Given the description of an element on the screen output the (x, y) to click on. 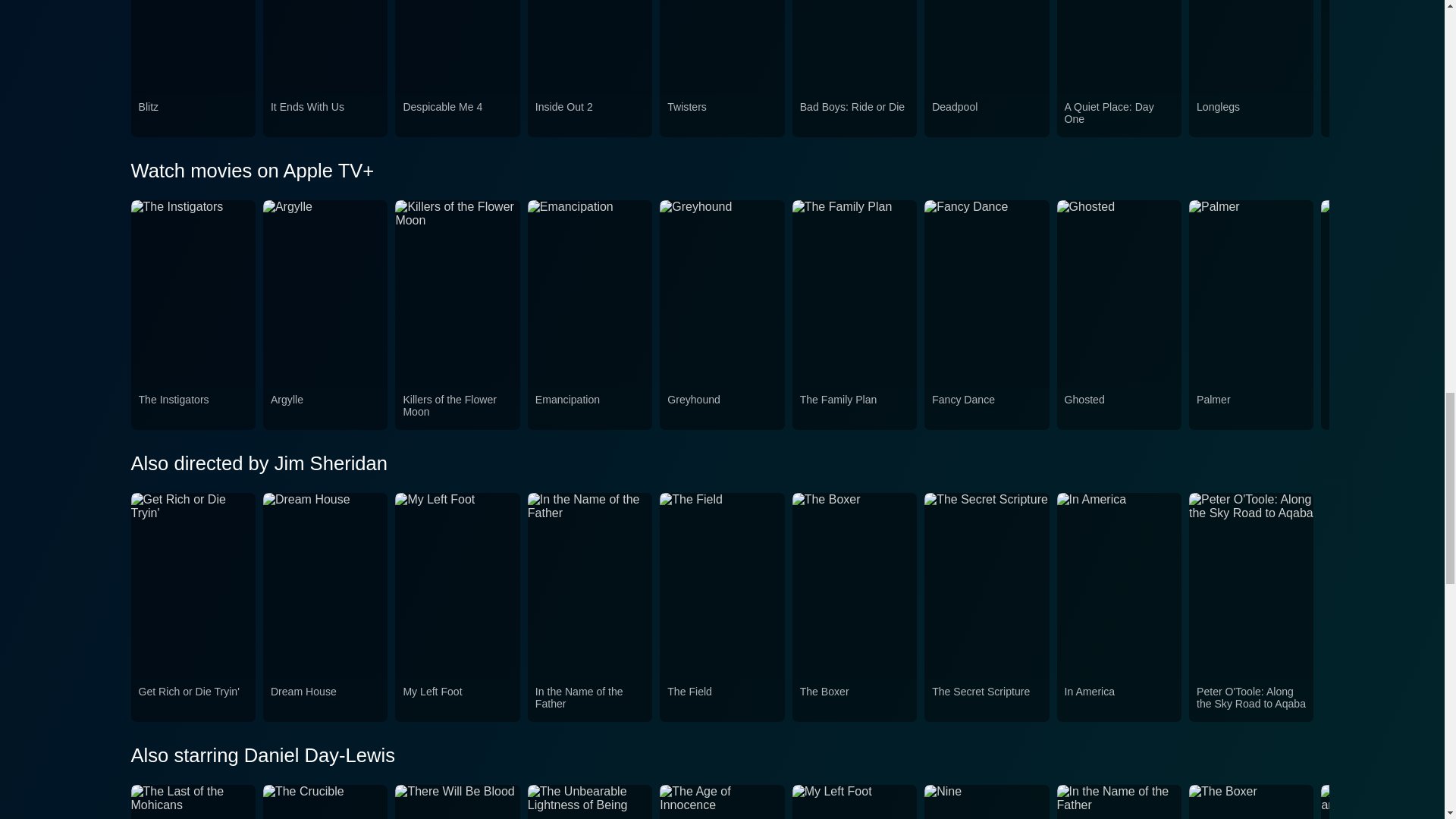
Twisters (721, 115)
Bad Boys: Ride or Die (853, 115)
Despicable Me 4 (457, 115)
Blitz (192, 115)
It Ends With Us (325, 115)
Inside Out 2 (590, 115)
